Given the description of an element on the screen output the (x, y) to click on. 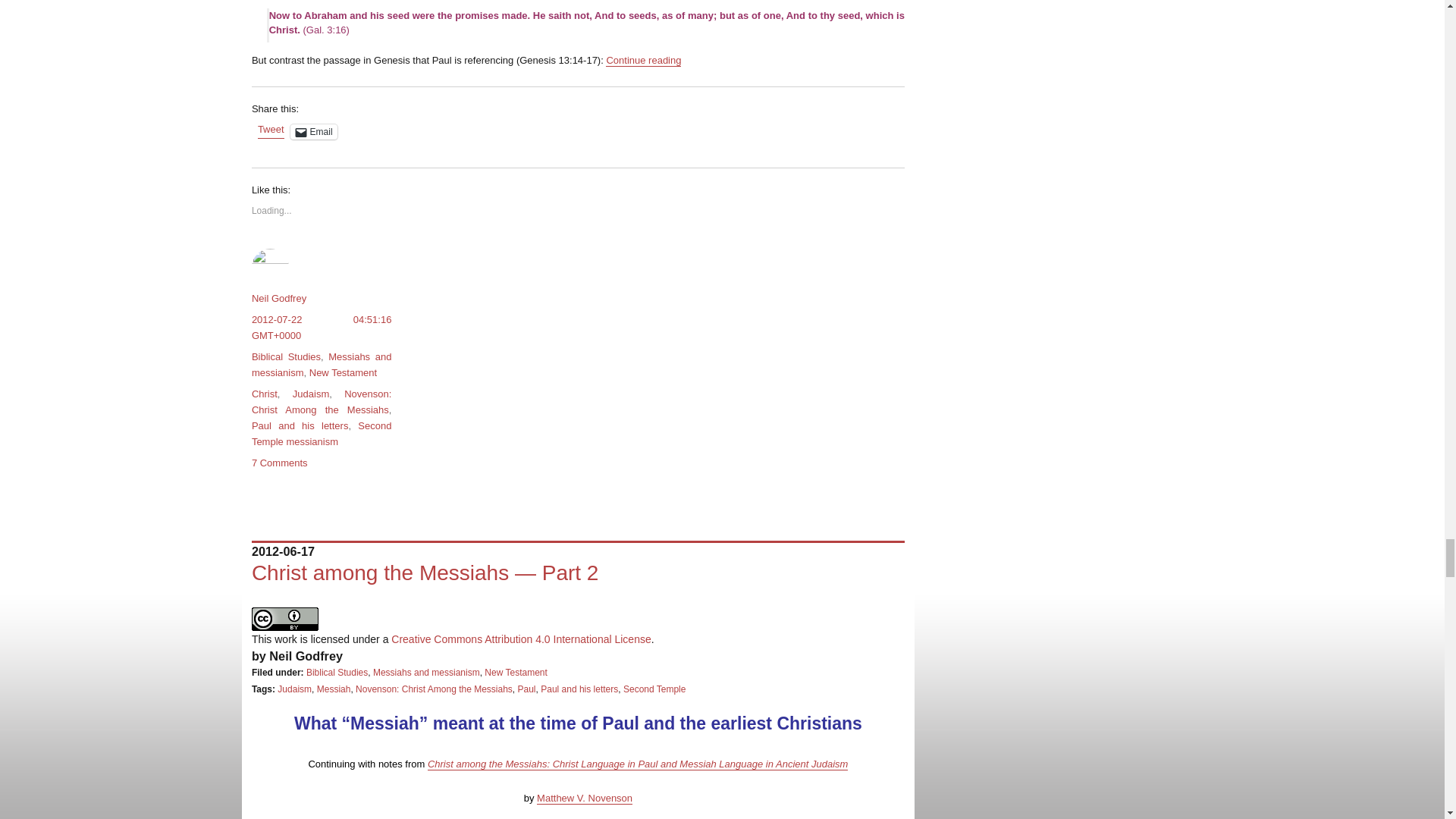
Click to email a link to a friend (313, 131)
